Given the description of an element on the screen output the (x, y) to click on. 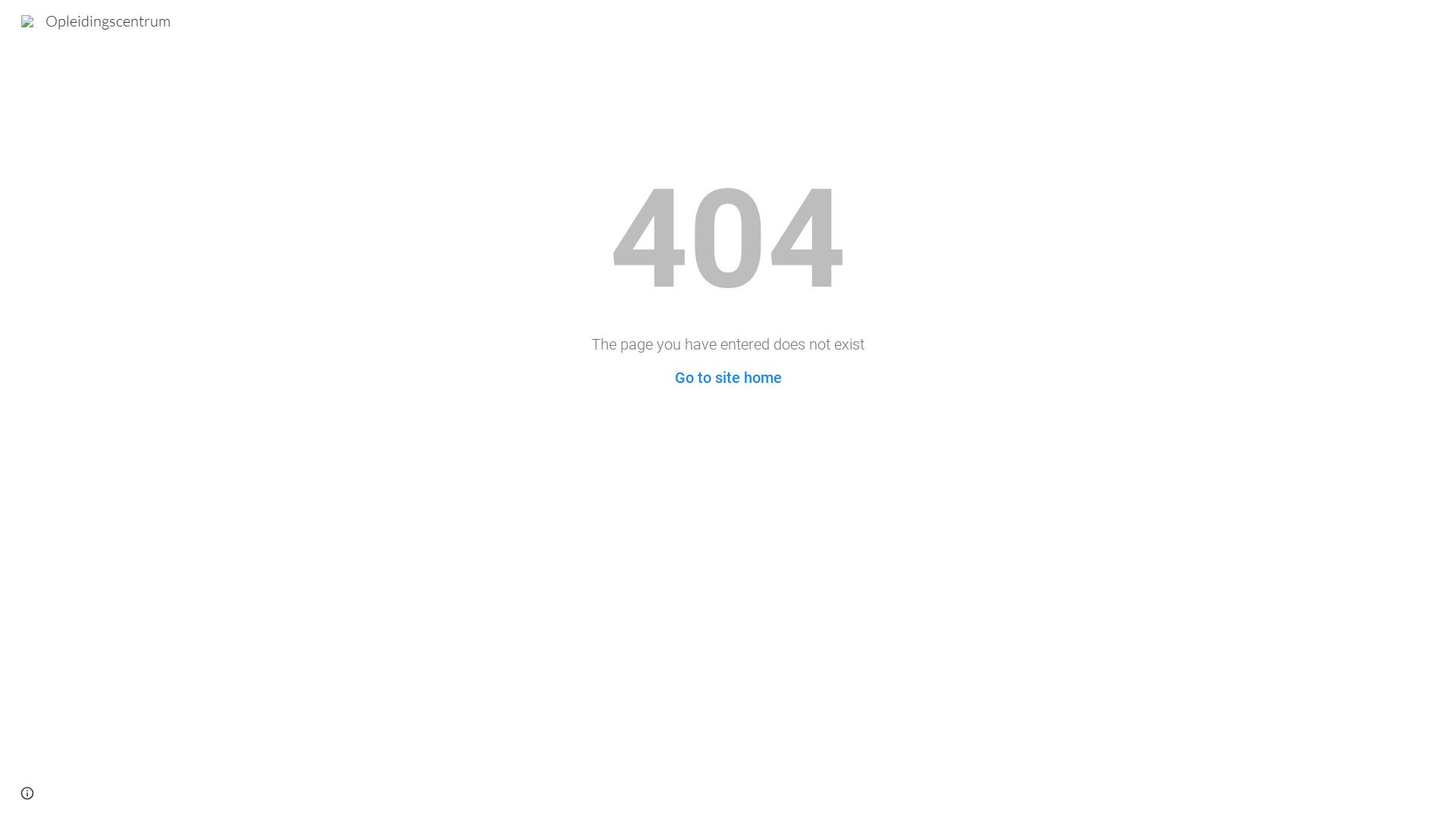
Go to site home Element type: text (727, 377)
Opleidingscentrum Element type: text (95, 18)
